Given the description of an element on the screen output the (x, y) to click on. 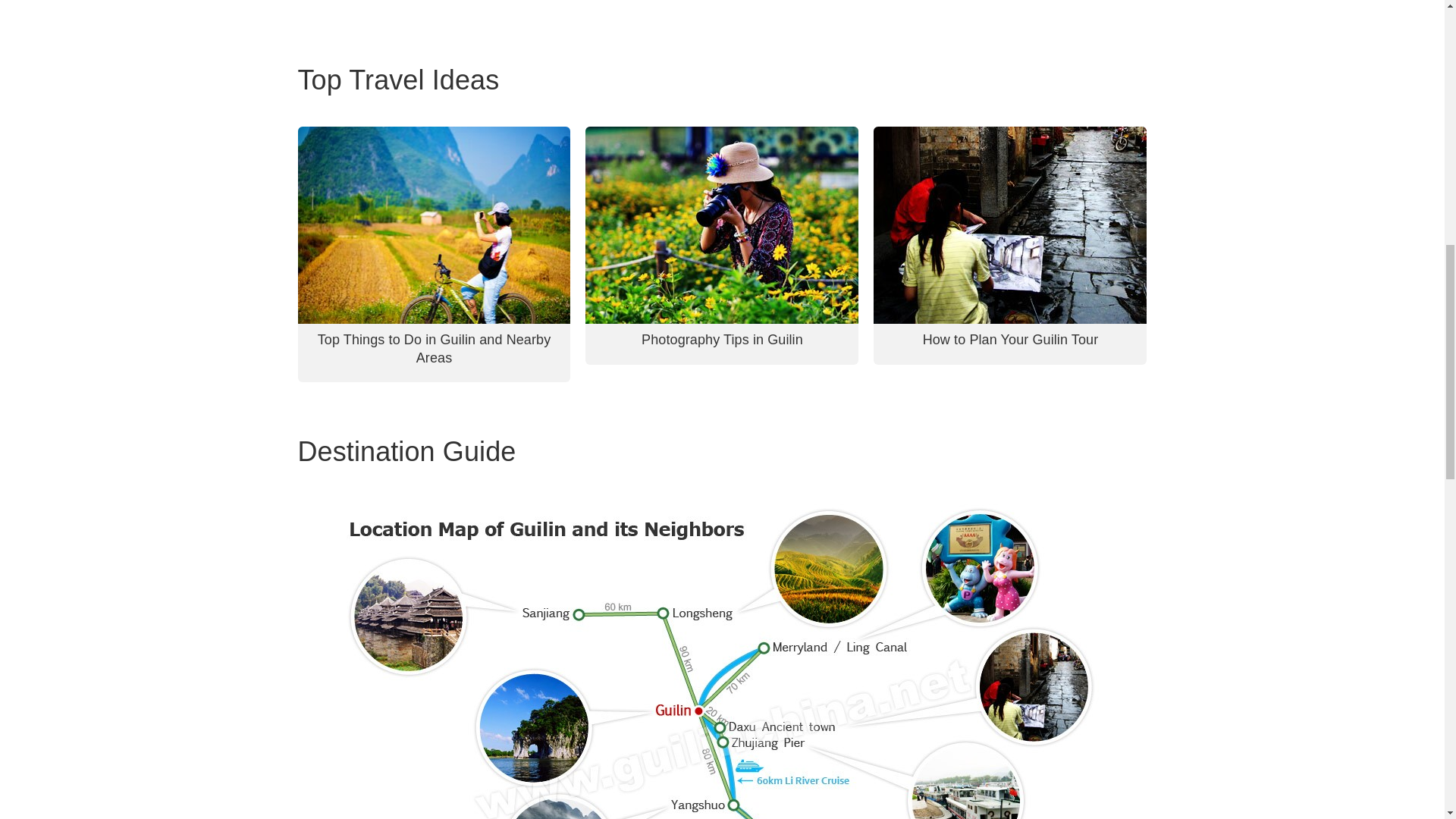
Photography Tips in Guilin (722, 339)
How to Plan Your Guilin Tour (1011, 339)
Top Things to Do in Guilin and Nearby Areas (434, 348)
